Given the description of an element on the screen output the (x, y) to click on. 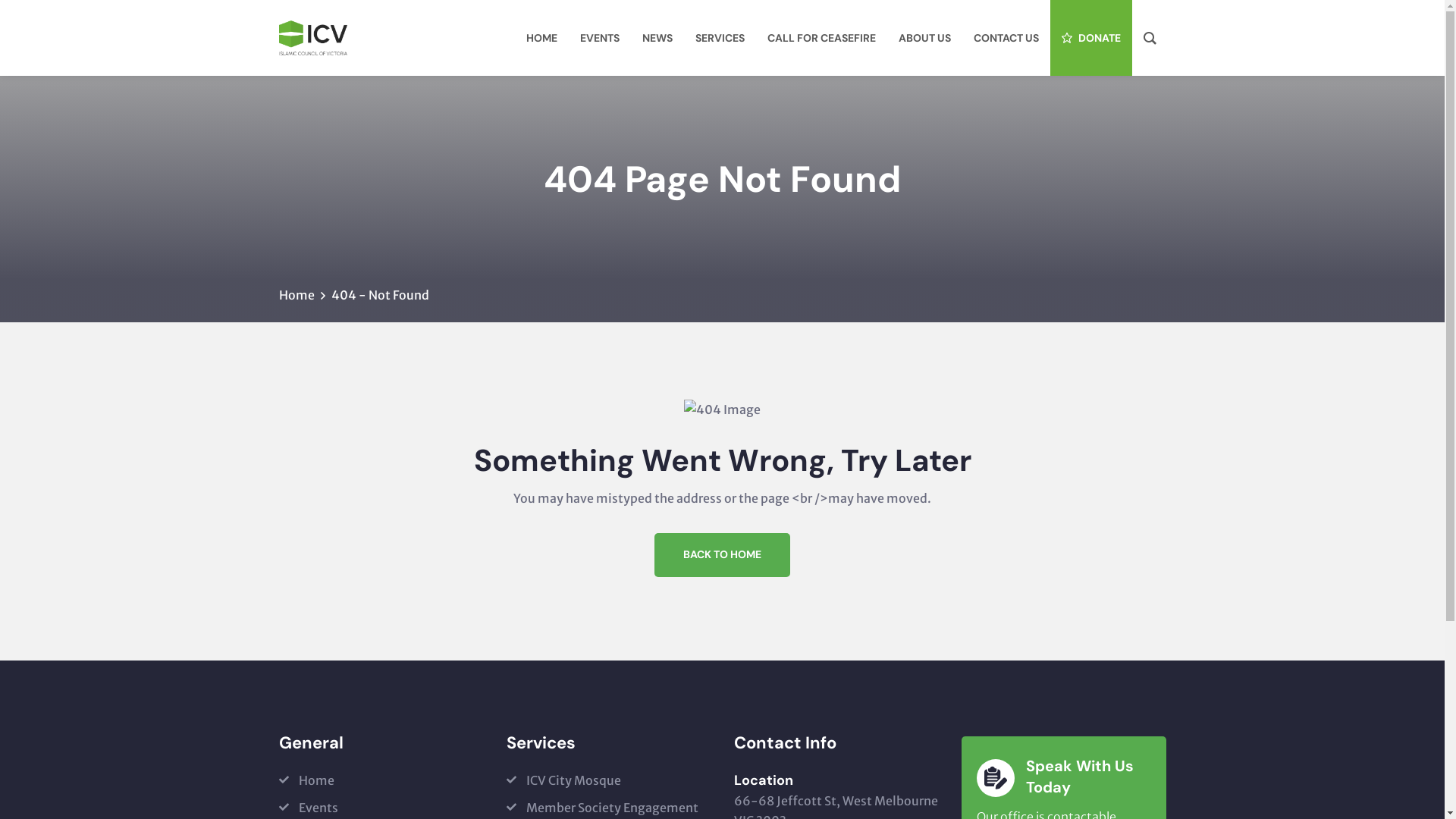
ABOUT US Element type: text (924, 37)
Home Element type: text (306, 780)
CONTACT US Element type: text (1005, 37)
EVENTS Element type: text (599, 37)
DONATE Element type: text (1090, 37)
CALL FOR CEASEFIRE Element type: text (820, 37)
HOME Element type: text (540, 37)
ICV City Mosque Element type: text (563, 780)
Events Element type: text (308, 807)
Home Element type: text (296, 294)
BACK TO HOME Element type: text (722, 555)
Member Society Engagement Element type: text (602, 807)
NEWS Element type: text (657, 37)
SERVICES Element type: text (720, 37)
